Given the description of an element on the screen output the (x, y) to click on. 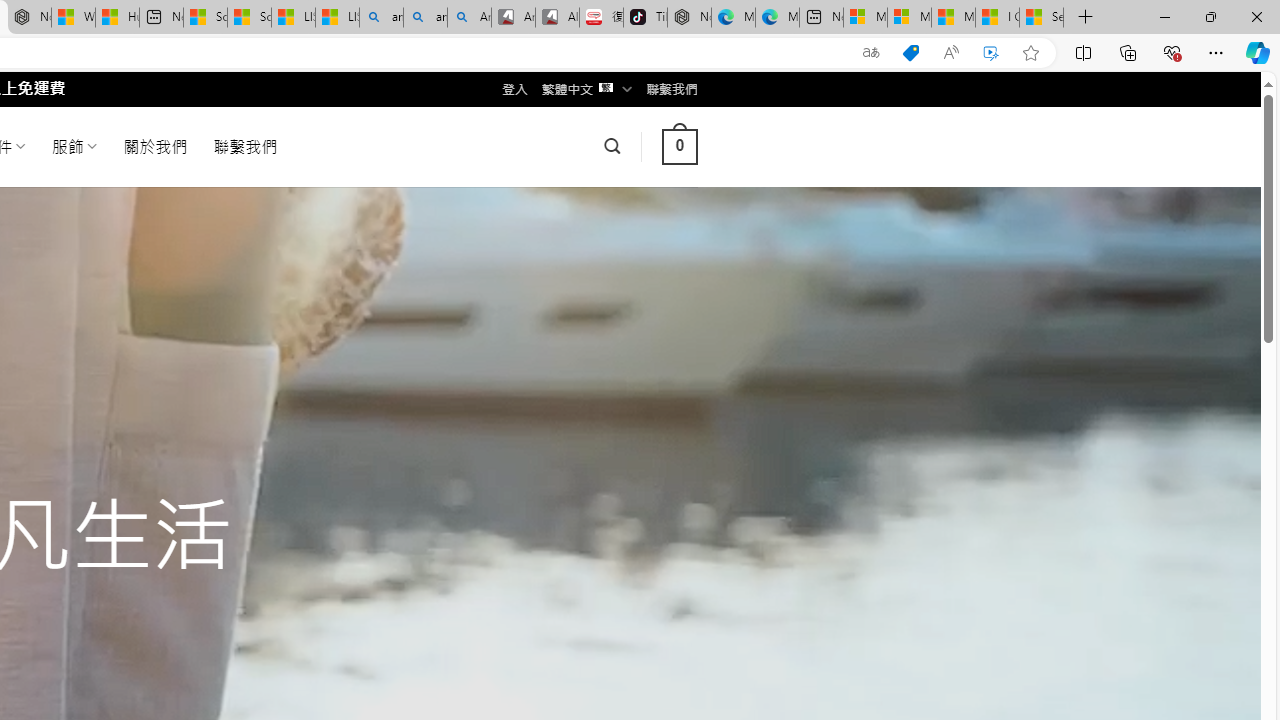
Show translate options (870, 53)
This site has coupons! Shopping in Microsoft Edge (910, 53)
amazon - Search (381, 17)
